Given the description of an element on the screen output the (x, y) to click on. 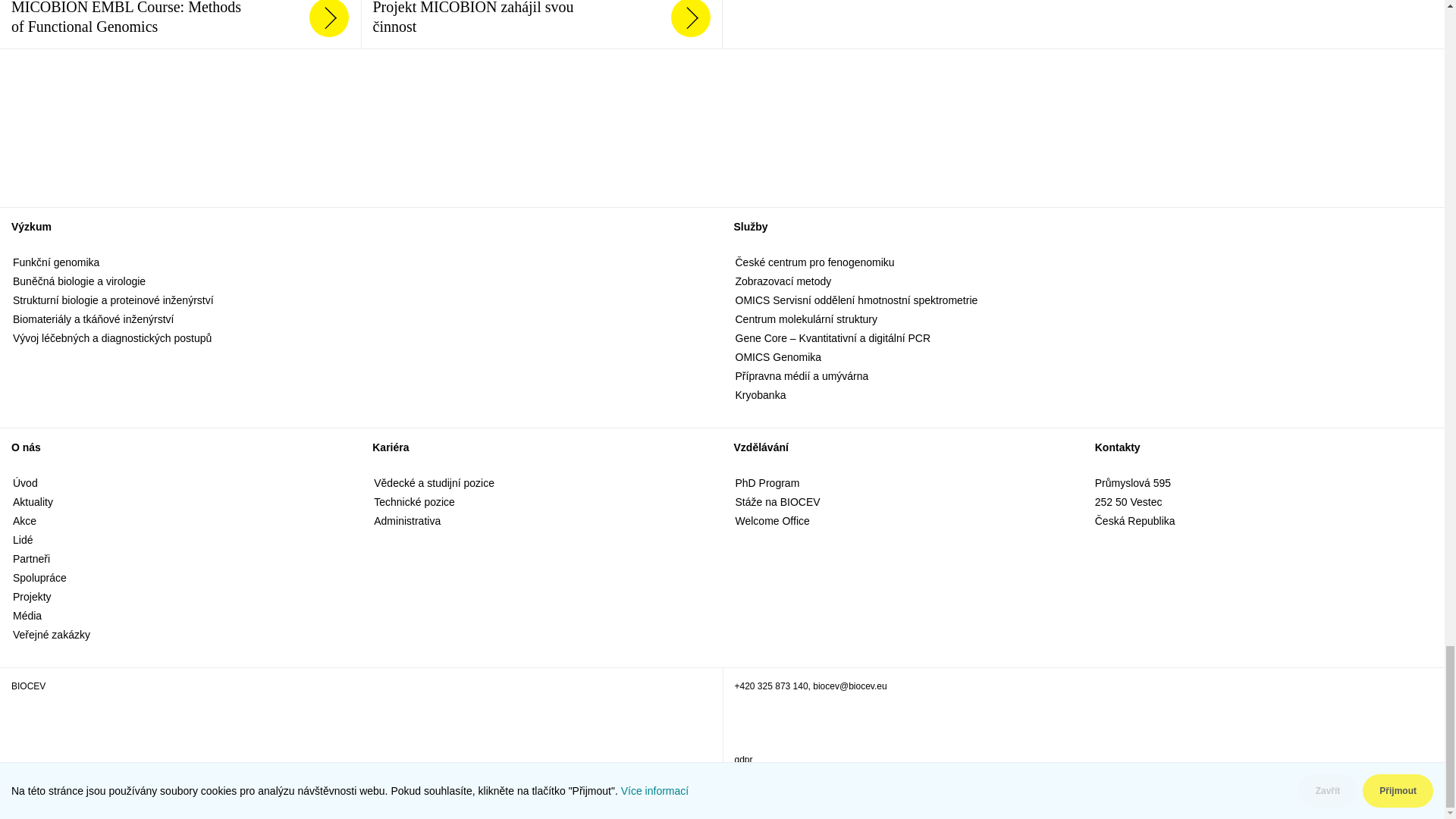
Facebook (611, 128)
Youtube (721, 128)
LinkedIn (666, 128)
Instagram (777, 128)
Twitter (834, 128)
